Given the description of an element on the screen output the (x, y) to click on. 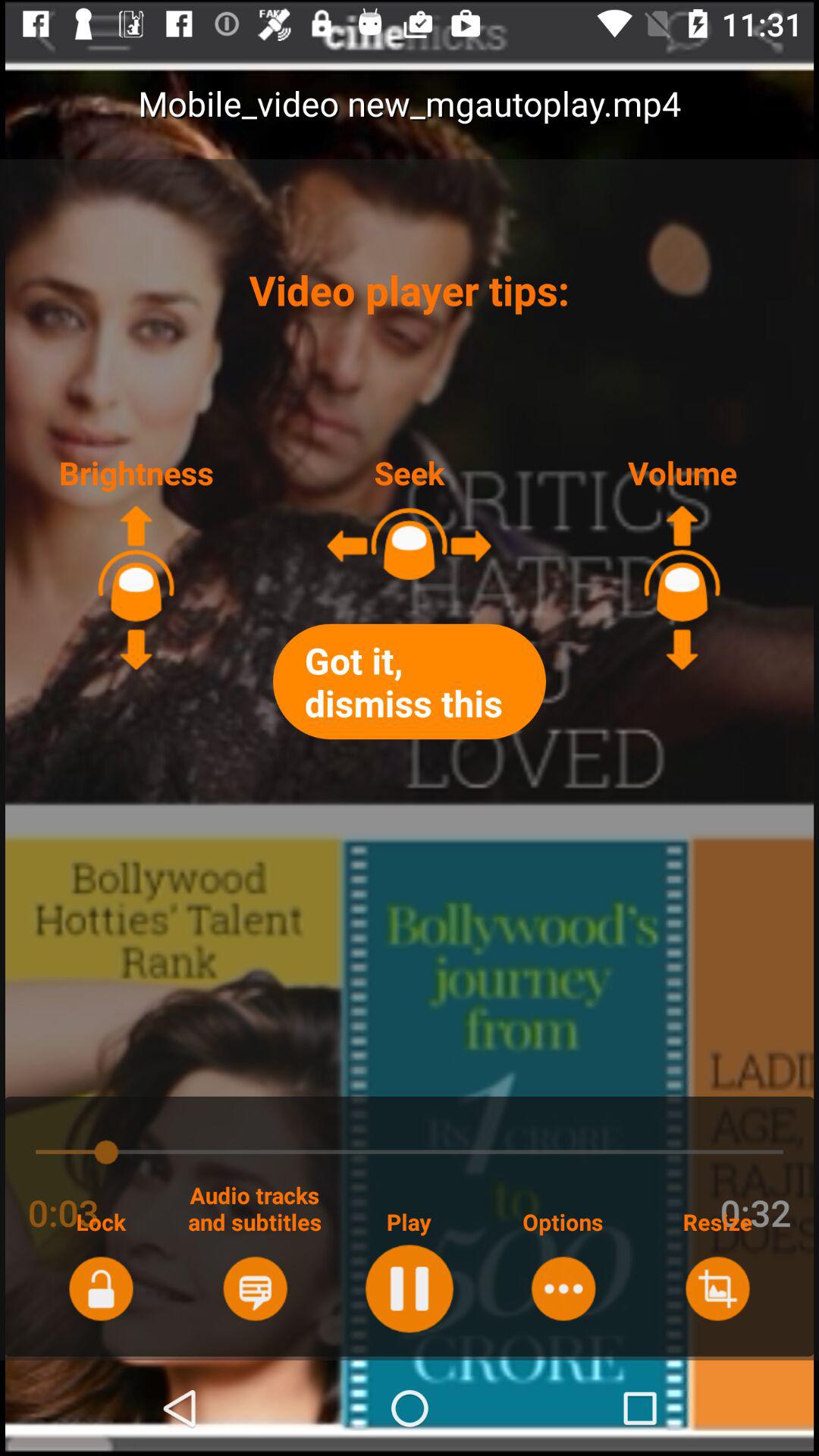
resizes the app (717, 1288)
